Given the description of an element on the screen output the (x, y) to click on. 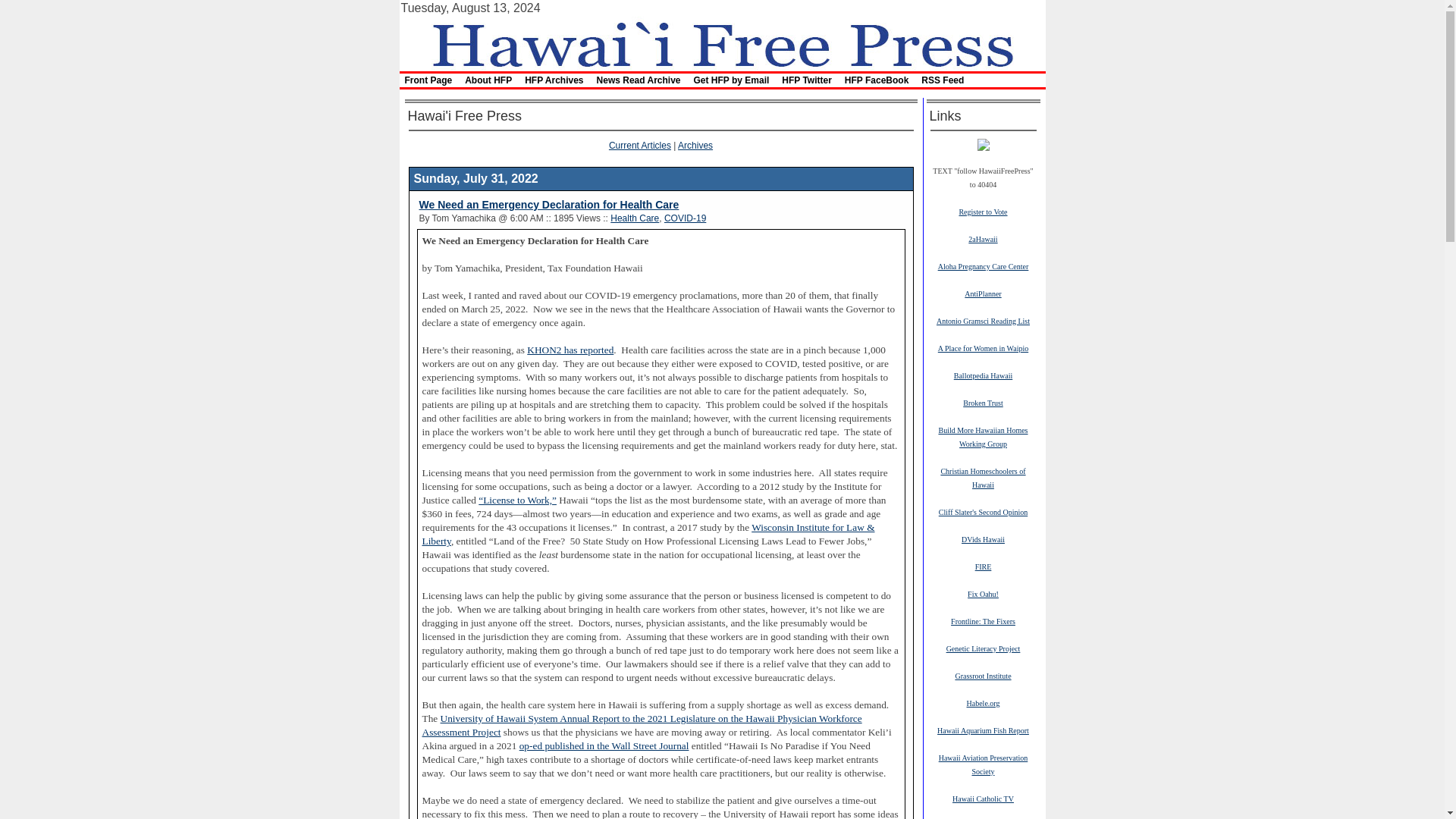
A Place for Women in Waipio (982, 347)
Hawaii Free Press (721, 42)
Register to Vote (982, 211)
Grassroot Institute (982, 675)
Aloha Pregnancy Care Center (983, 266)
Health Care (634, 217)
COVID-19 (684, 217)
Build More Hawaiian Homes Working Group (982, 436)
Current Articles (639, 145)
